Given the description of an element on the screen output the (x, y) to click on. 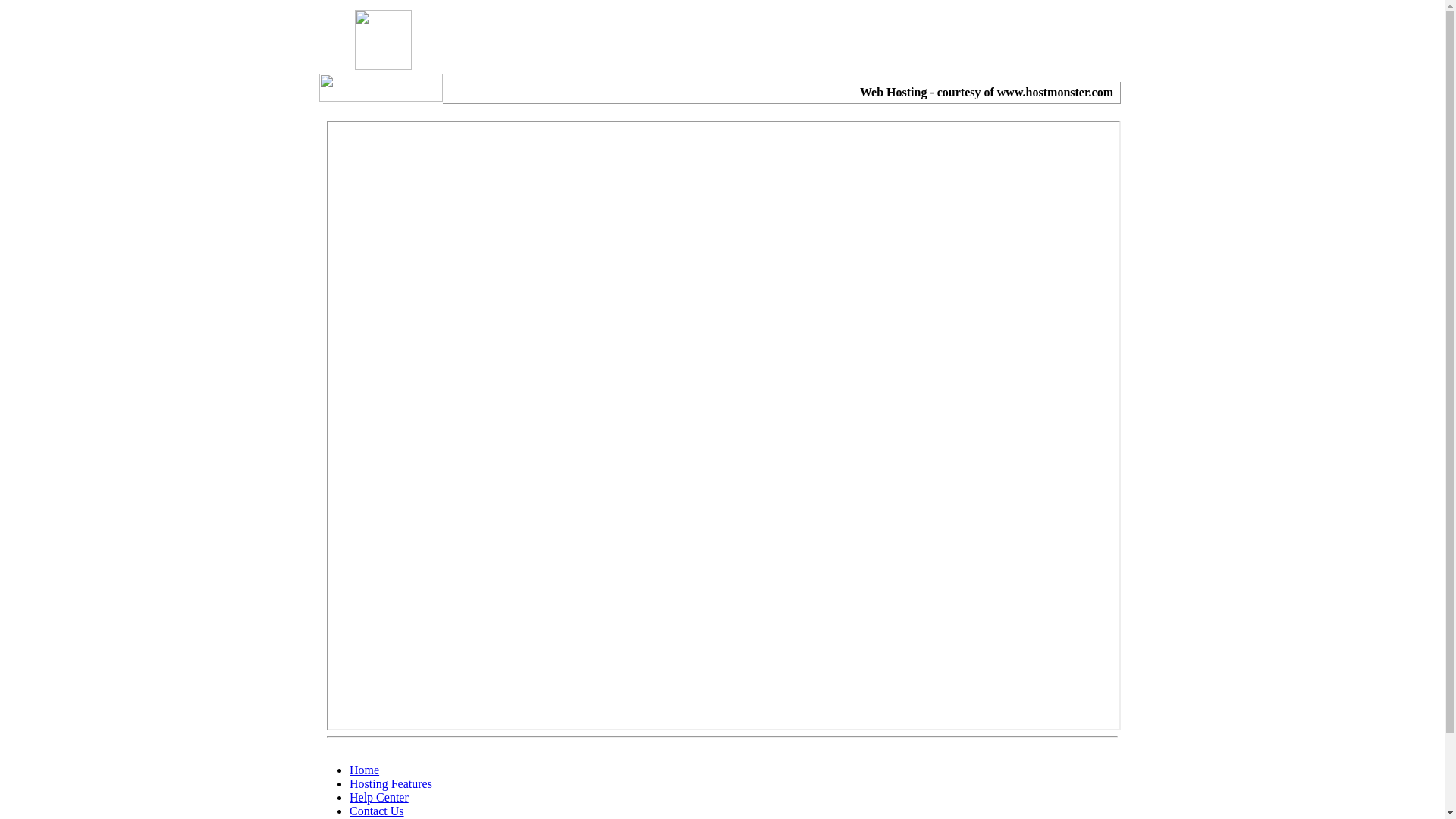
Contact Us Element type: text (376, 810)
Web Hosting - courtesy of www.hostmonster.com Element type: text (986, 91)
Home Element type: text (364, 769)
Help Center Element type: text (378, 796)
Hosting Features Element type: text (390, 783)
